Given the description of an element on the screen output the (x, y) to click on. 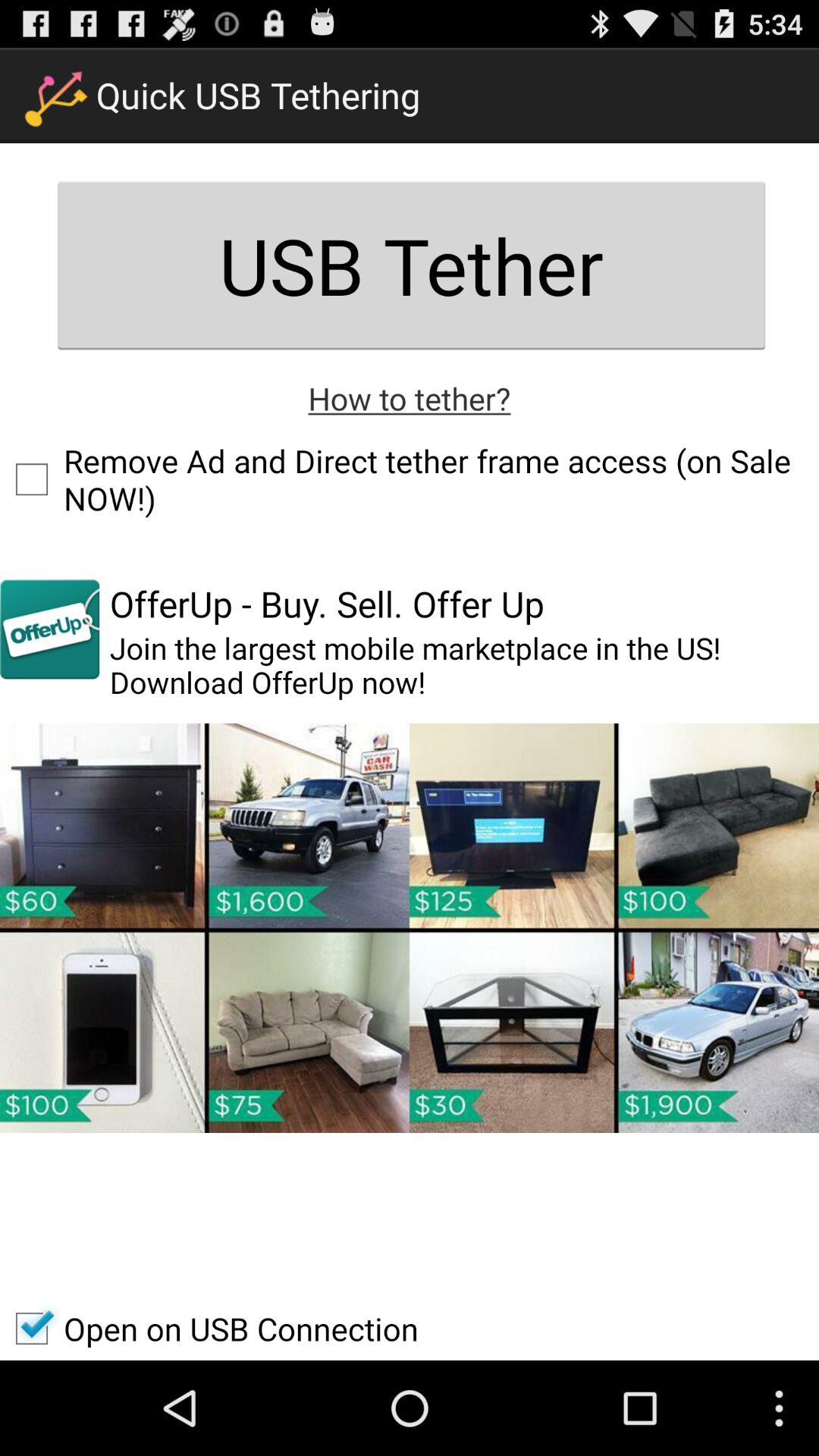
turn on the item below the remove ad and (49, 629)
